Given the description of an element on the screen output the (x, y) to click on. 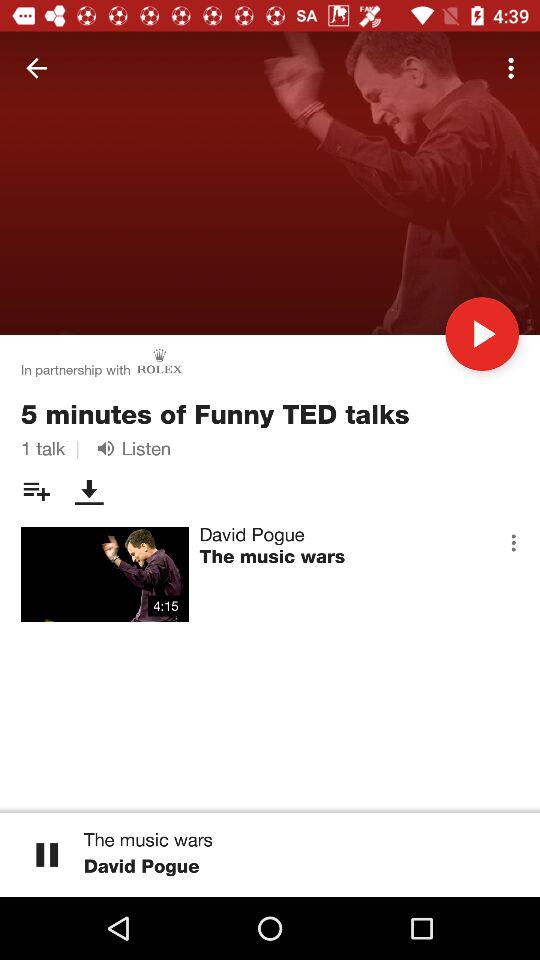
launch icon next to the david pogue icon (513, 542)
